Given the description of an element on the screen output the (x, y) to click on. 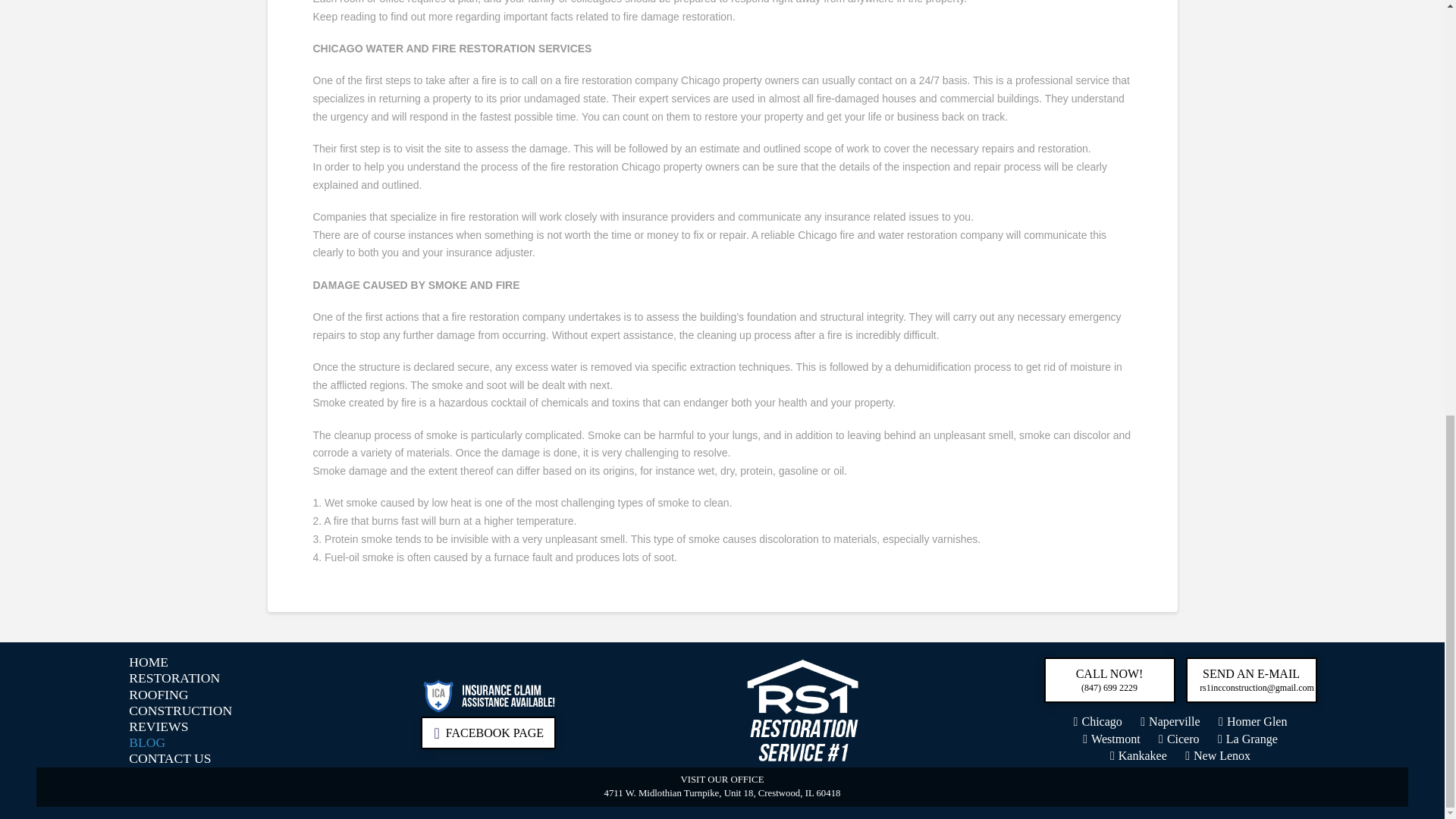
BLOG (147, 742)
Homer Glen (1252, 721)
4711 W. Midlothian Turnpike, Unit 18, Crestwood, IL 60418 (722, 792)
CONTACT US (170, 759)
New Lenox (1217, 755)
Cicero (1178, 738)
La Grange (1247, 738)
ROOFING (158, 694)
RESTORATION (174, 678)
Kankakee (1138, 755)
HOME (148, 662)
Westmont (1111, 738)
Naperville (1169, 721)
CONSTRUCTION (180, 710)
Chicago (1098, 721)
